Given the description of an element on the screen output the (x, y) to click on. 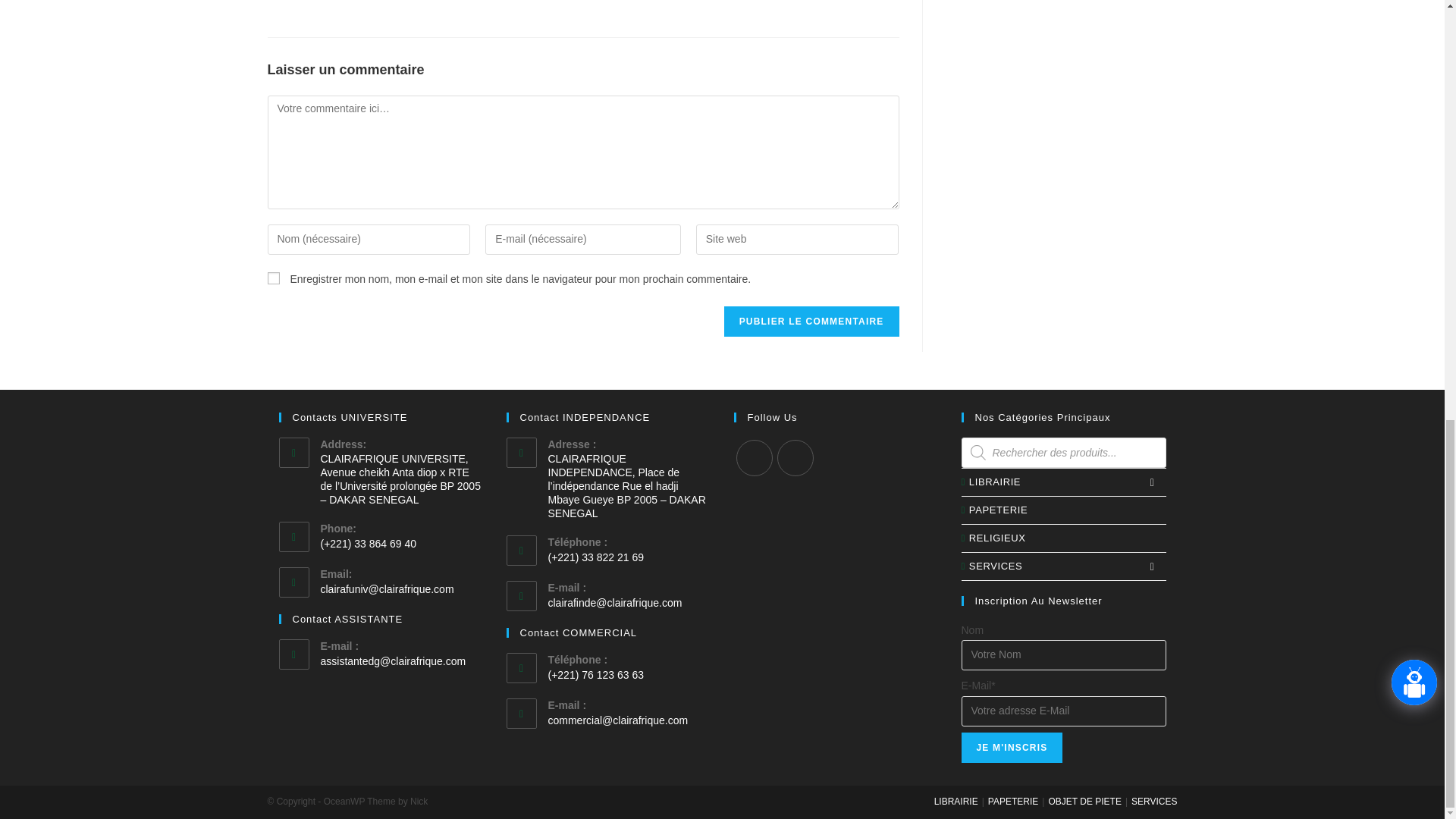
yes (272, 277)
Je m'inscris (1011, 747)
Publier le commentaire (811, 321)
